Given the description of an element on the screen output the (x, y) to click on. 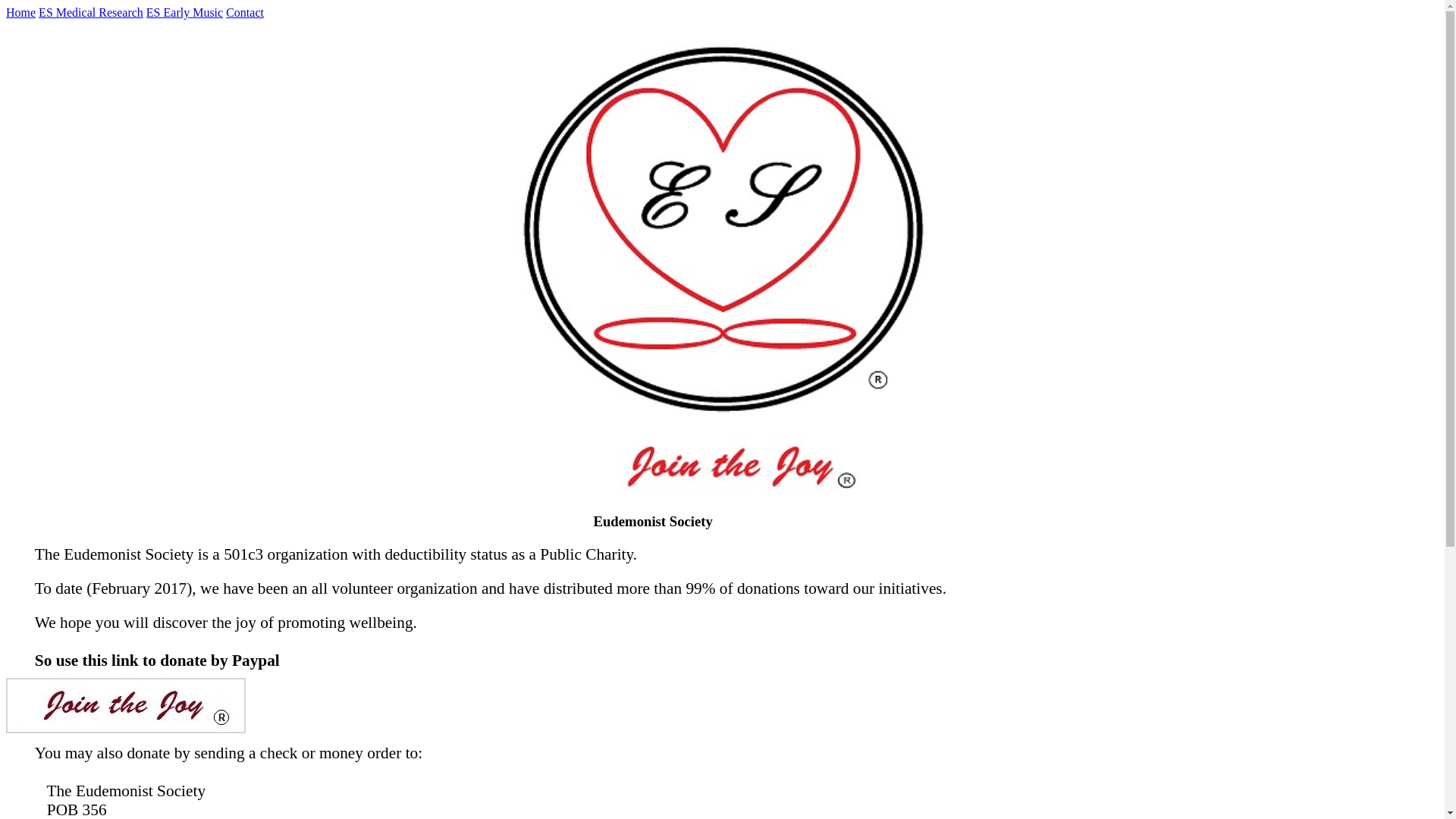
Home (19, 11)
ES Early Music (184, 11)
ES Medical Research (90, 11)
Contact (244, 11)
I want to promote wellbeing... (125, 705)
